Given the description of an element on the screen output the (x, y) to click on. 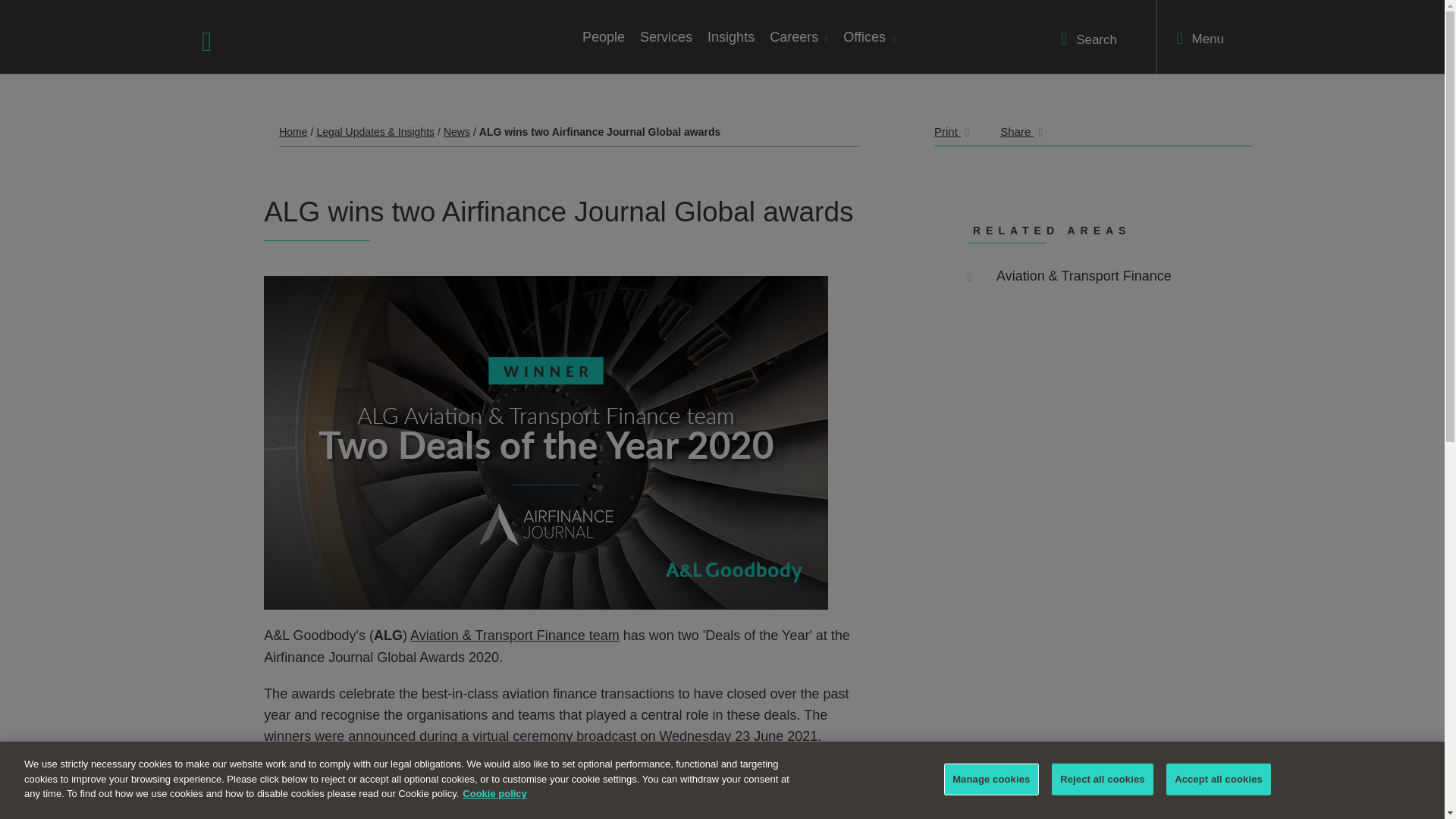
Search (1088, 39)
Services (666, 37)
Insights (730, 37)
Careers (799, 37)
People (603, 37)
Offices (869, 37)
Menu (1200, 38)
